Given the description of an element on the screen output the (x, y) to click on. 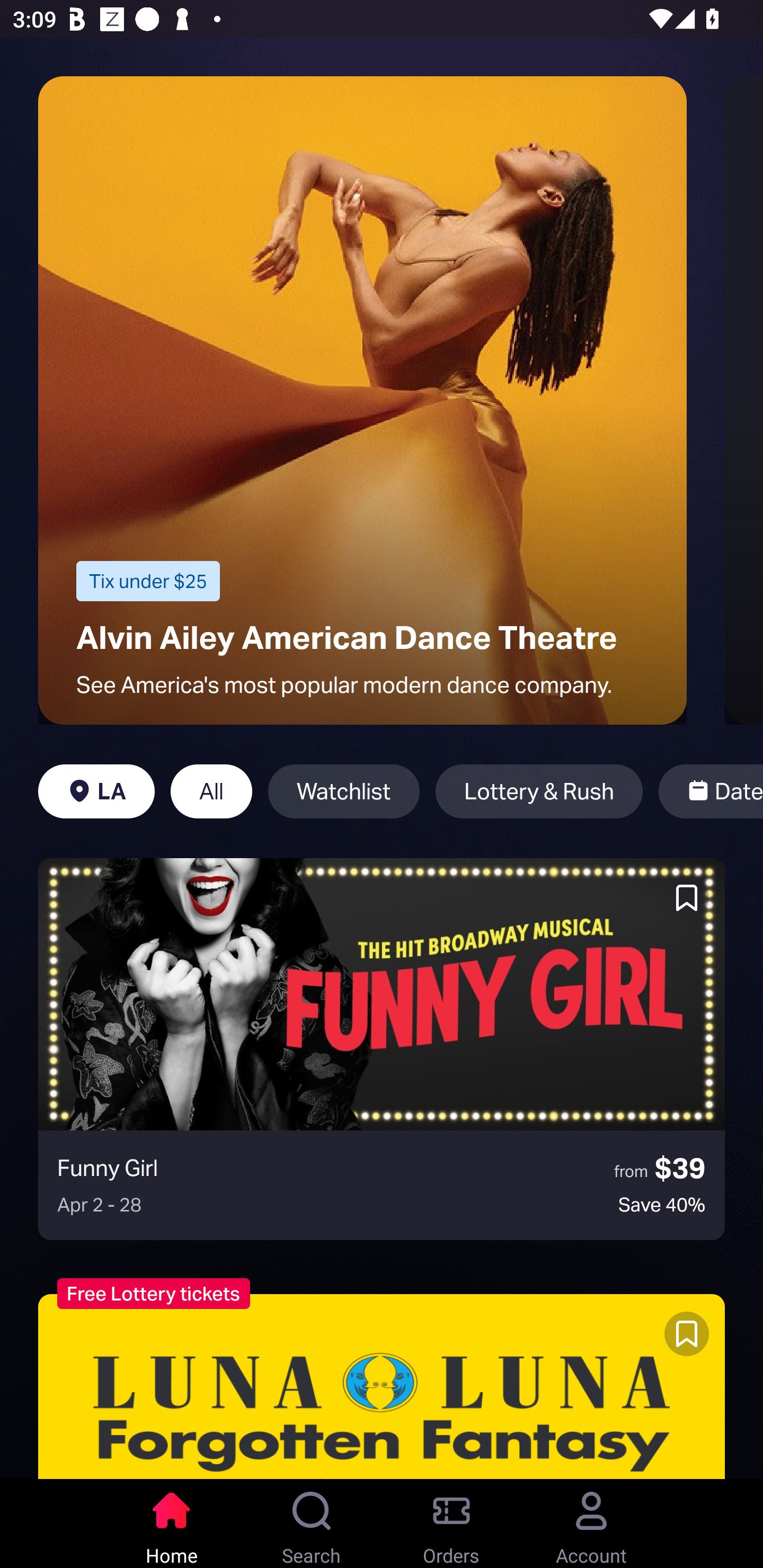
LA (96, 791)
All (211, 791)
Watchlist (343, 791)
Lottery & Rush (538, 791)
Funny Girl from $39 Apr 2 - 28 Save 40% (381, 1048)
Search (311, 1523)
Orders (451, 1523)
Account (591, 1523)
